Given the description of an element on the screen output the (x, y) to click on. 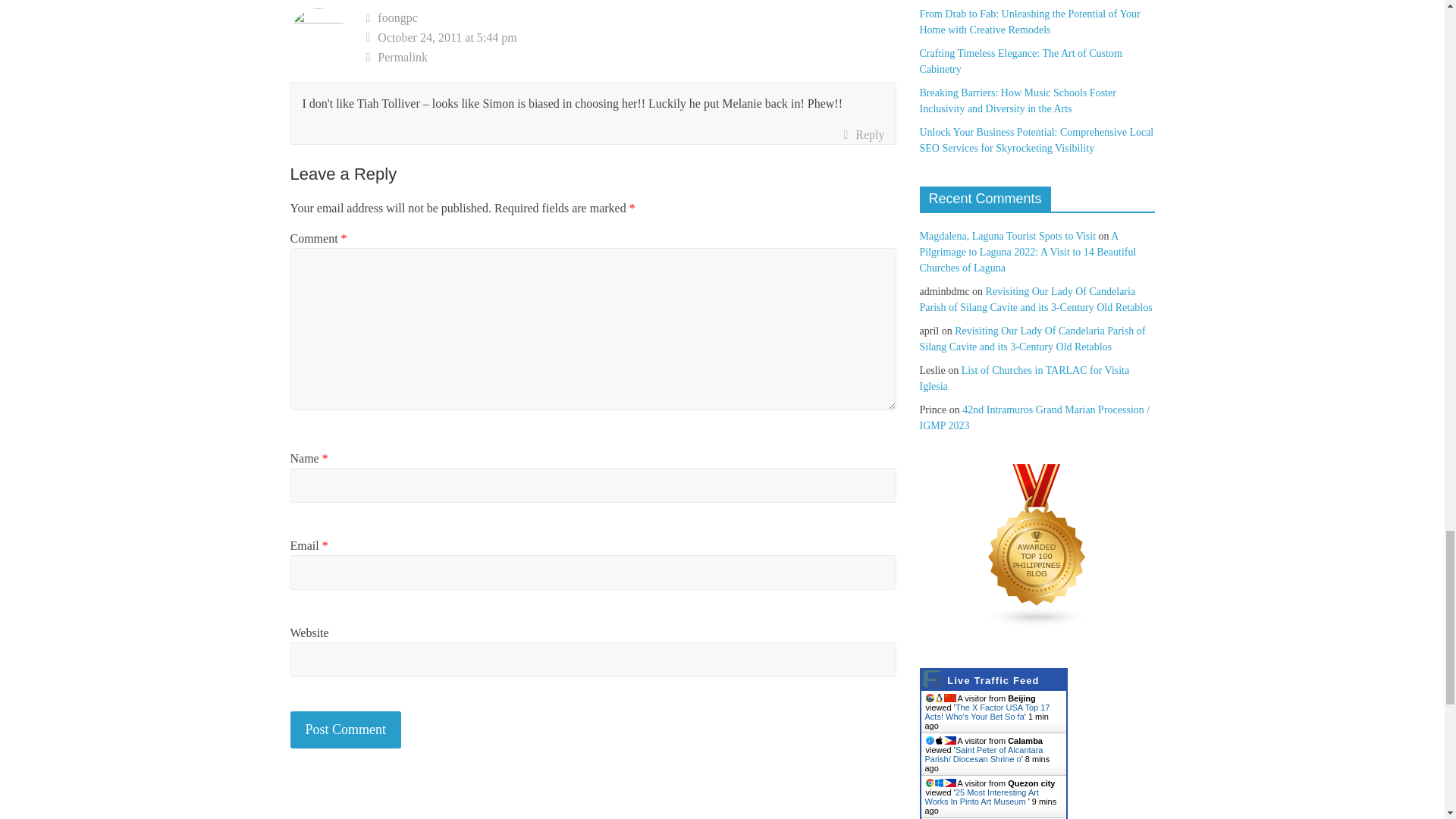
Post Comment (345, 729)
